Given the description of an element on the screen output the (x, y) to click on. 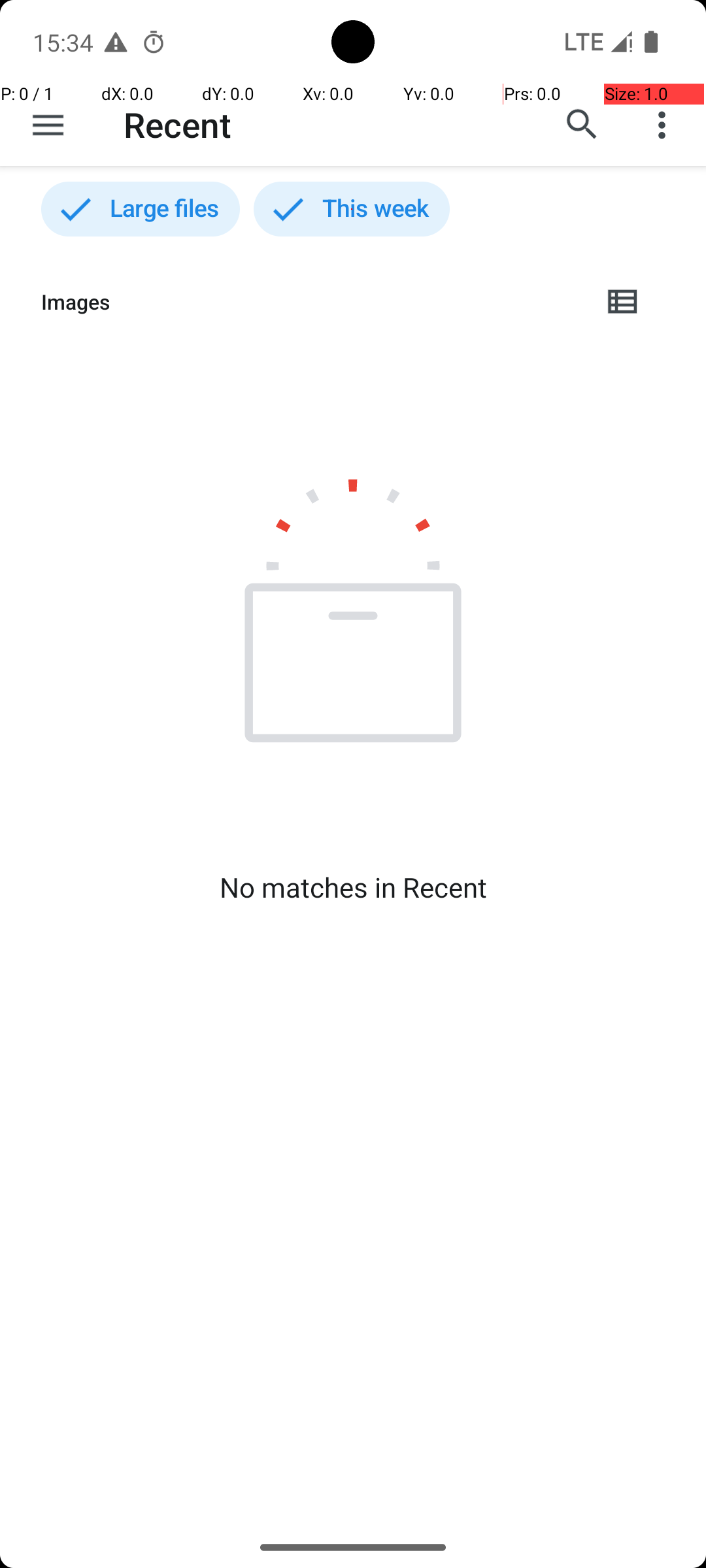
No matches in Recent Element type: android.widget.TextView (352, 886)
